Given the description of an element on the screen output the (x, y) to click on. 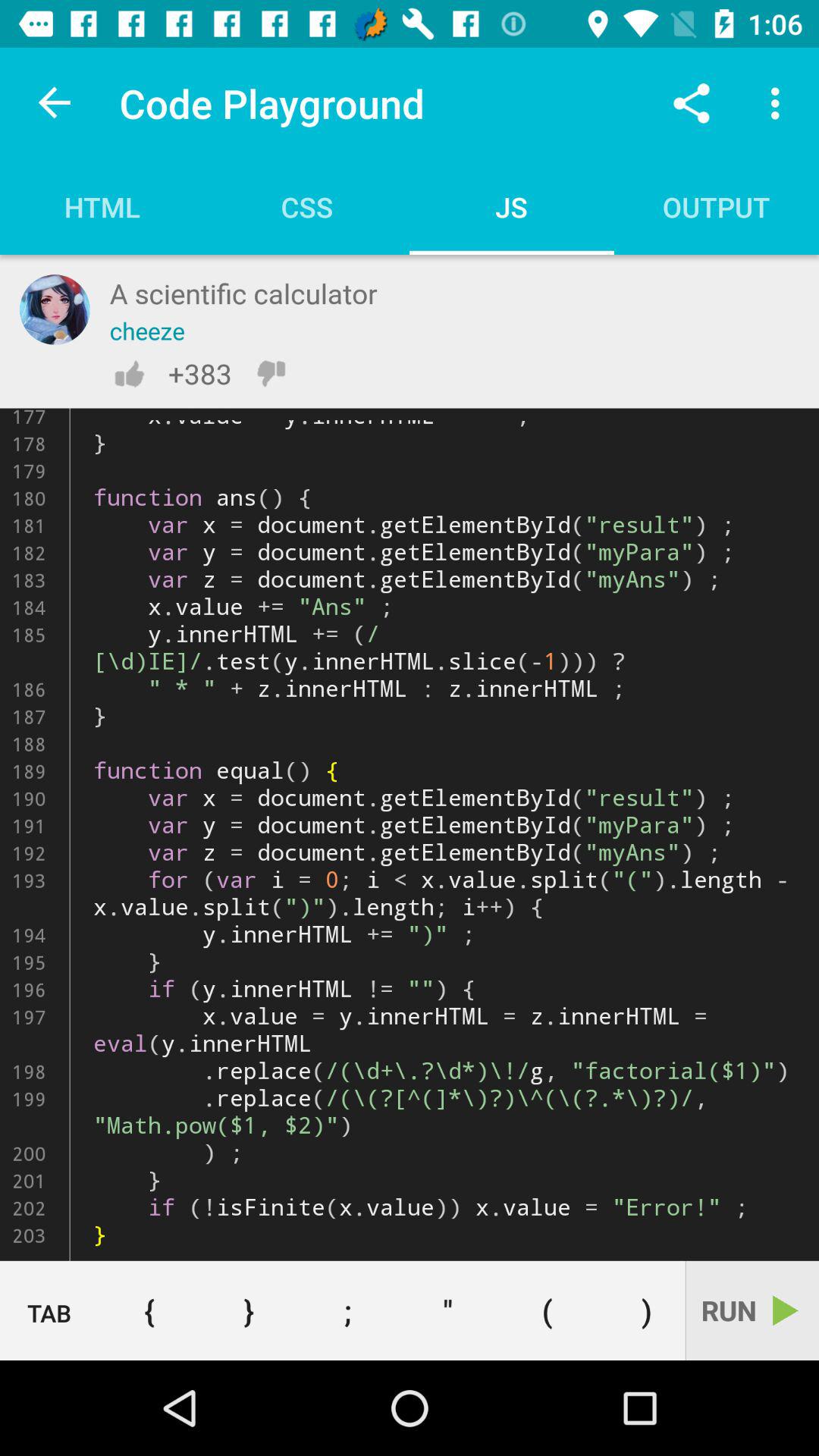
choose button next to } button (149, 1310)
